Given the description of an element on the screen output the (x, y) to click on. 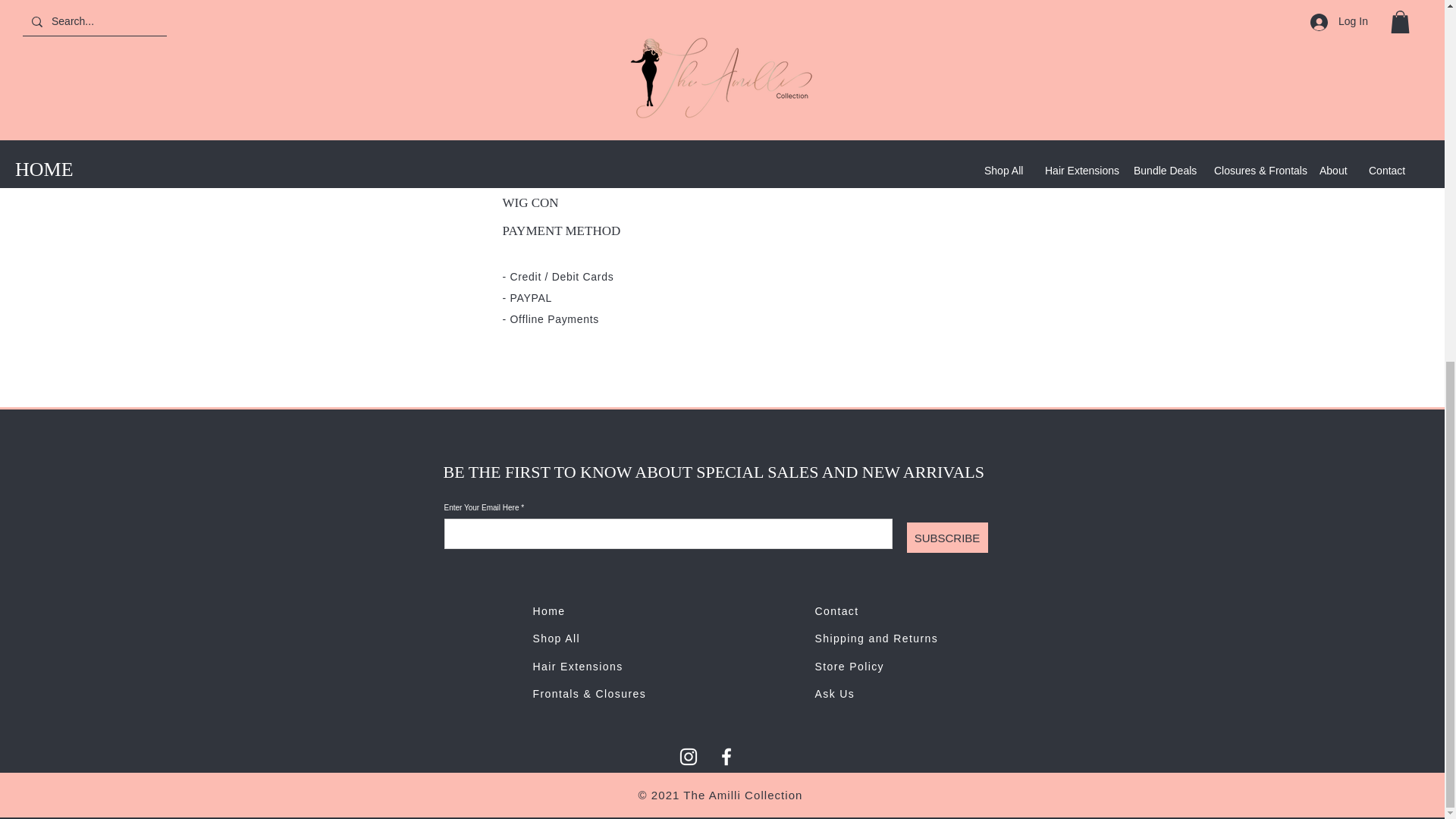
Shop All (555, 638)
Hair Extensions (577, 666)
SUBSCRIBE (947, 537)
Shipping and Returns (875, 638)
Home (548, 611)
Ask Us (833, 693)
Contact (836, 611)
Store Policy (848, 666)
